Given the description of an element on the screen output the (x, y) to click on. 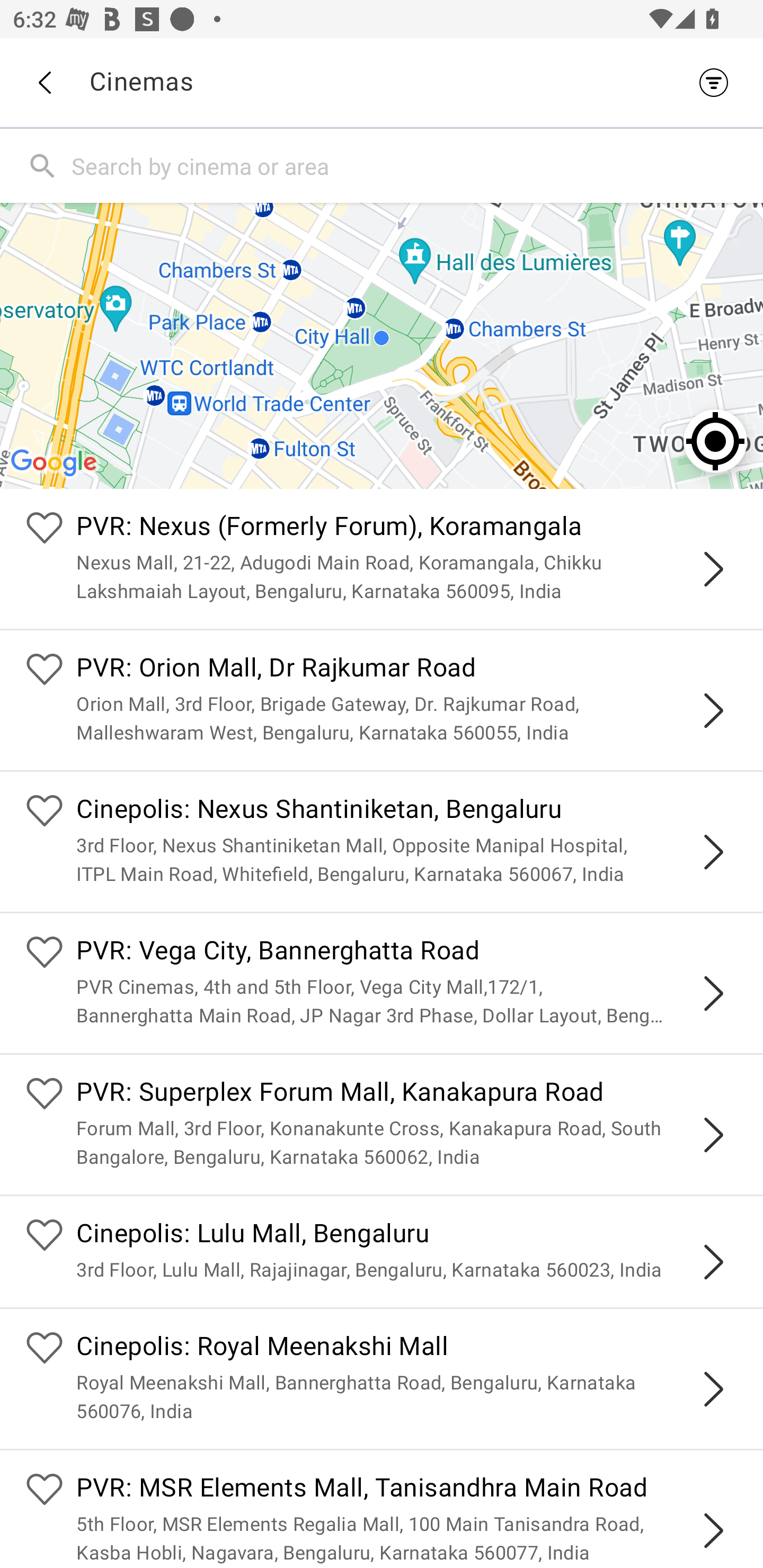
Back Cinemas Filter (381, 82)
Filter (718, 82)
Back (44, 82)
Search by cinema or area (413, 165)
Google Map Map Marker (381, 345)
PVR: Nexus (Formerly Forum), Koramangala (406, 528)
 (713, 568)
PVR: Orion Mall, Dr Rajkumar Road (406, 669)
 (713, 710)
Cinepolis: Nexus Shantiniketan, Bengaluru (406, 810)
 (713, 851)
PVR: Vega City, Bannerghatta Road (406, 952)
 (713, 993)
PVR: Superplex Forum Mall, Kanakapura Road (406, 1094)
 (713, 1134)
Cinepolis: Lulu Mall, Bengaluru (406, 1235)
 (713, 1261)
Cinepolis: Royal Meenakshi Mall (406, 1348)
 (713, 1388)
PVR: MSR Elements Mall, Tanisandhra Main Road (406, 1489)
 (713, 1530)
